Given the description of an element on the screen output the (x, y) to click on. 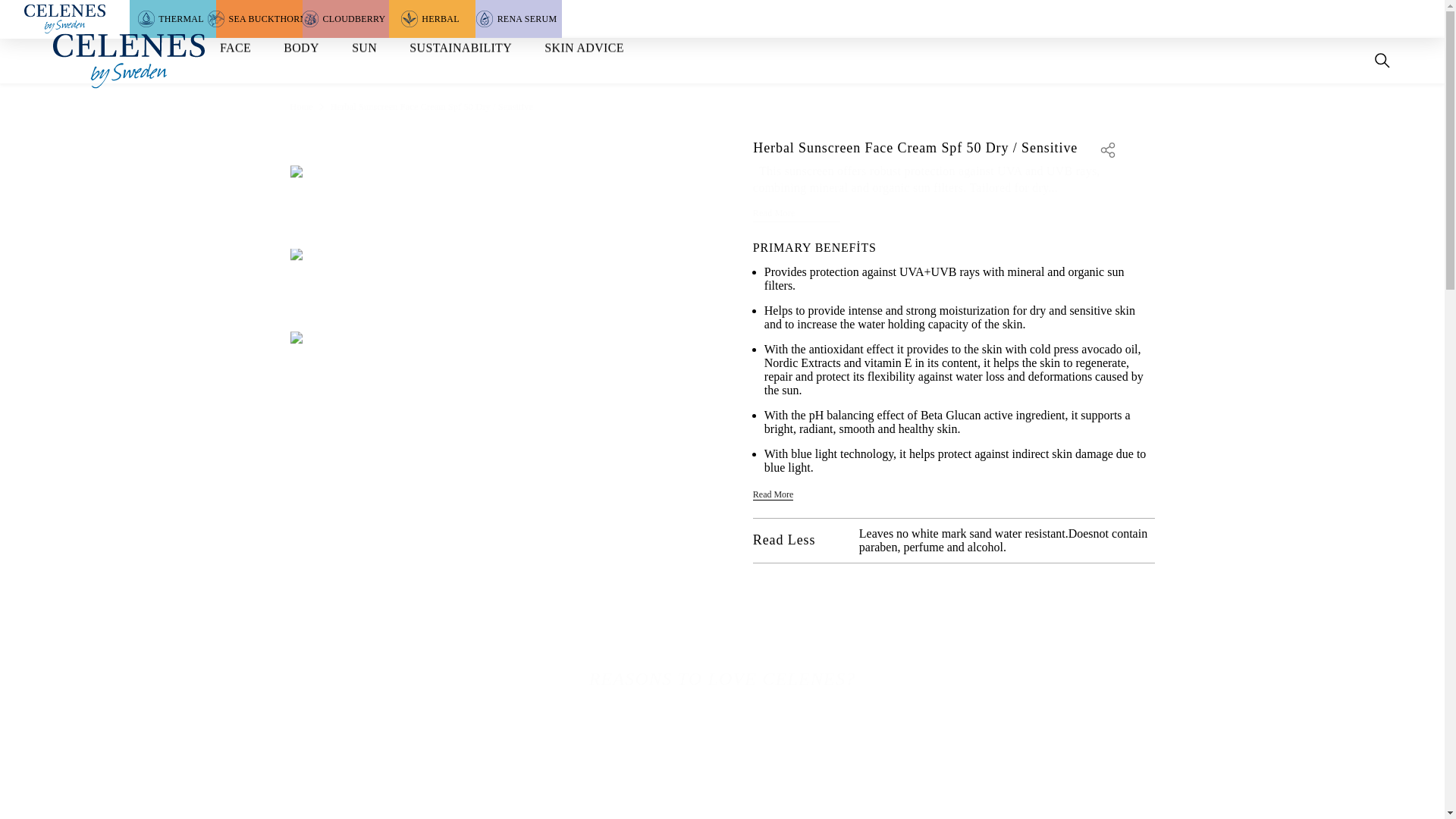
THERMAL (172, 18)
SUSTAINABILITY (460, 47)
HERBAL (432, 18)
0 (128, 59)
SUN (363, 47)
SEA BUCKTHORN (258, 18)
Home (301, 106)
RENA SERUM (519, 18)
Read More (796, 212)
